Given the description of an element on the screen output the (x, y) to click on. 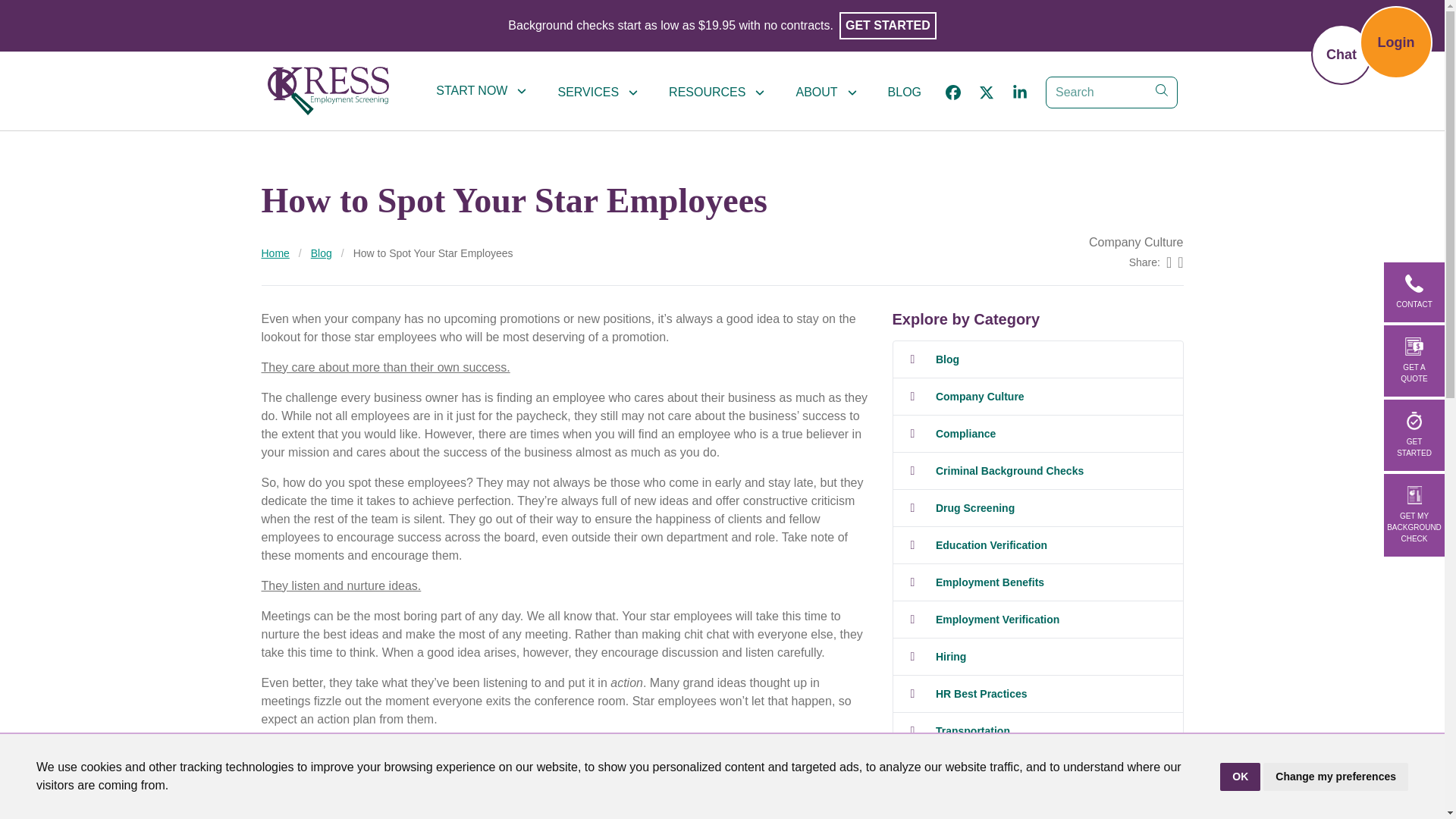
Chat (1341, 54)
GET STARTED (888, 25)
Change my preferences (1335, 776)
Login (1395, 41)
SERVICES (598, 91)
START NOW (480, 91)
OK (1240, 776)
